Given the description of an element on the screen output the (x, y) to click on. 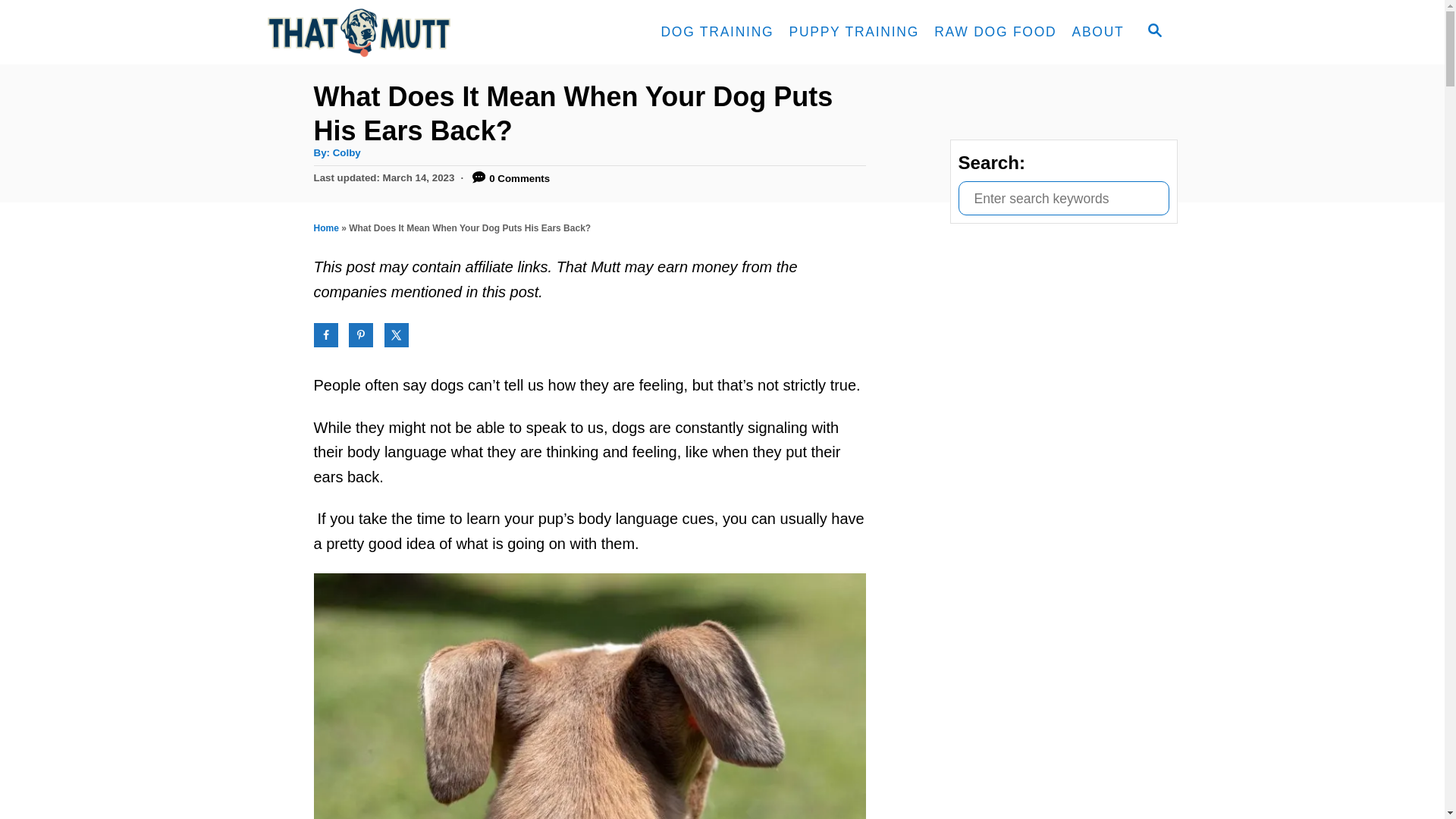
Search (22, 22)
Share on X (396, 334)
Colby (347, 152)
PUPPY TRAINING (853, 32)
Search for: (1063, 197)
DOG TRAINING (716, 32)
Share on Facebook (325, 334)
ABOUT (1097, 32)
Save to Pinterest (360, 334)
RAW DOG FOOD (995, 32)
